Given the description of an element on the screen output the (x, y) to click on. 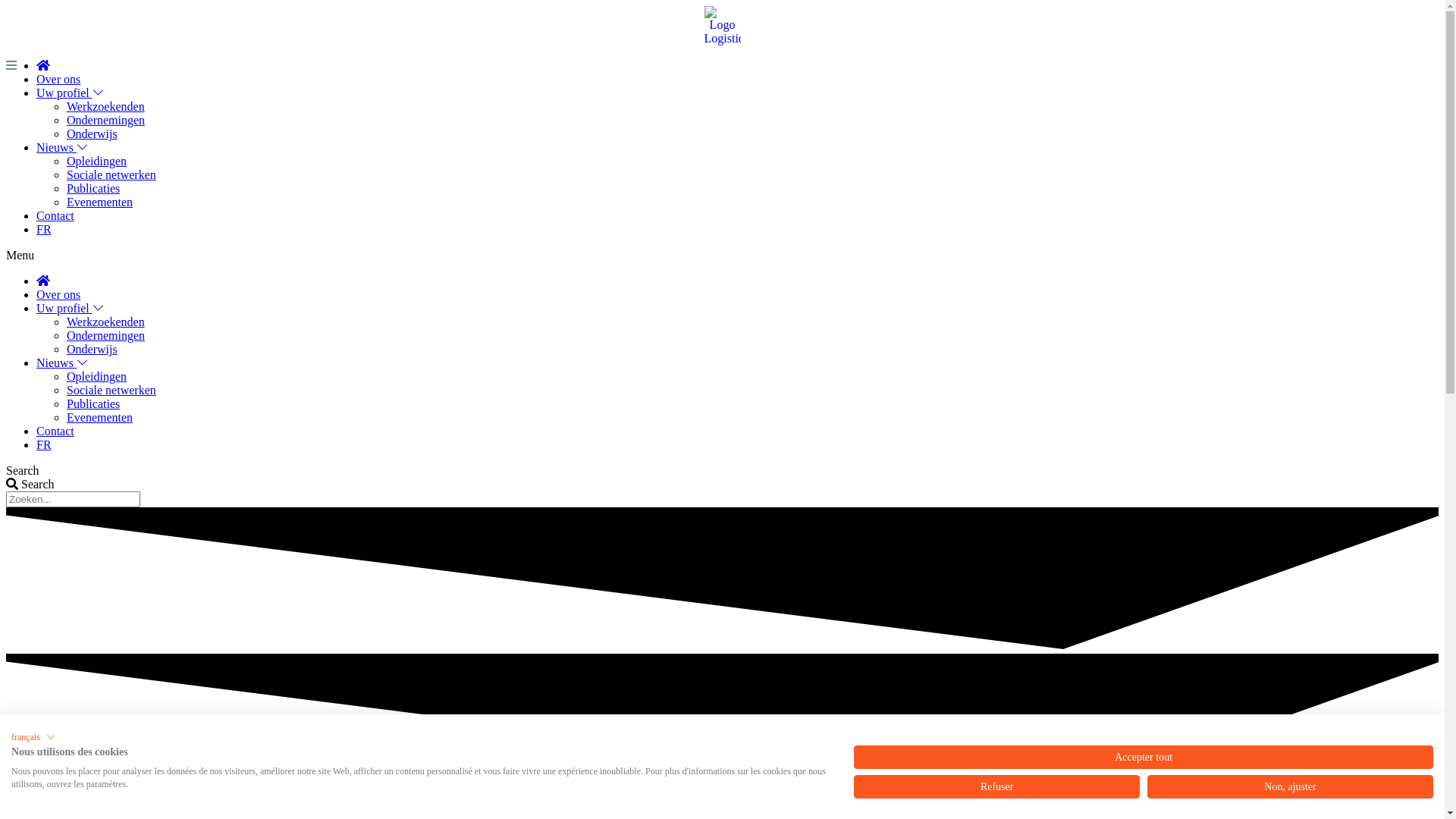
Publicaties Element type: text (92, 188)
FR Element type: text (43, 228)
Onderwijs Element type: text (91, 348)
Sociale netwerken Element type: text (111, 174)
Home Element type: hover (43, 65)
Nieuws Element type: text (62, 362)
Evenementen Element type: text (99, 417)
Accepter tout Element type: text (1143, 756)
Uw profiel Element type: text (70, 92)
Werkzoekenden Element type: text (105, 106)
Uw profiel Element type: text (70, 307)
Opleidingen Element type: text (96, 376)
Opleidingen Element type: text (96, 160)
Over ons Element type: text (58, 78)
Sociale netwerken Element type: text (111, 389)
Contact Element type: text (55, 430)
Evenementen Element type: text (99, 201)
FR Element type: text (43, 444)
Werkzoekenden Element type: text (105, 321)
Publicaties Element type: text (92, 403)
Ondernemingen Element type: text (105, 119)
Home Element type: hover (43, 280)
Refuser Element type: text (996, 786)
Onderwijs Element type: text (91, 133)
Non, ajuster Element type: text (1290, 786)
Contact Element type: text (55, 215)
Ondernemingen Element type: text (105, 335)
Nieuws Element type: text (62, 147)
Over ons Element type: text (58, 294)
